Given the description of an element on the screen output the (x, y) to click on. 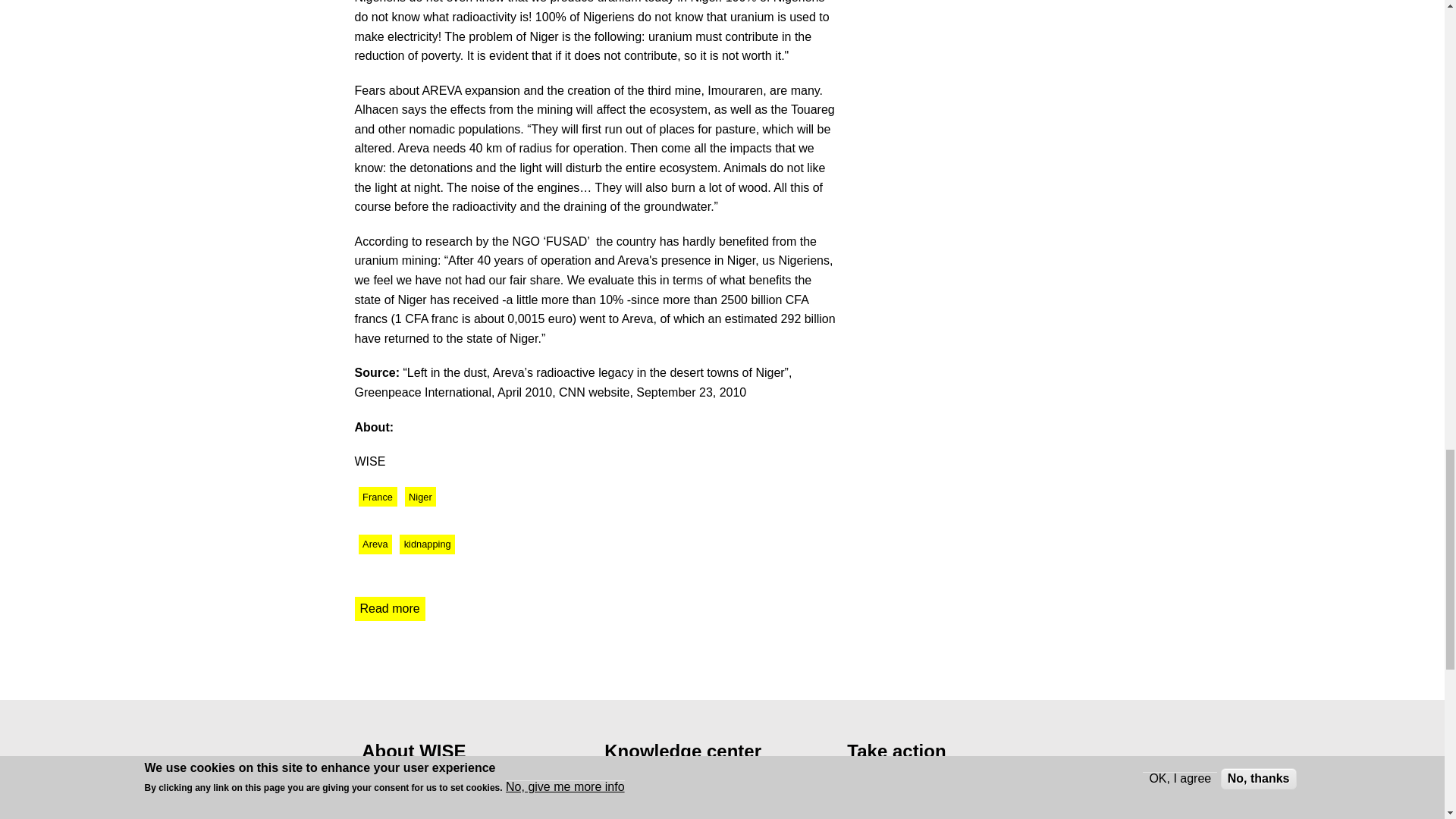
Is nuclear power the answer to climate change? (705, 783)
Areva workers in trouble, in Niger (390, 608)
General information (418, 776)
France (377, 496)
Areva (390, 608)
Niger (374, 544)
kidnapping (420, 496)
What we do (426, 544)
Mission (400, 816)
Nuclear fuel cycle (390, 798)
